Given the description of an element on the screen output the (x, y) to click on. 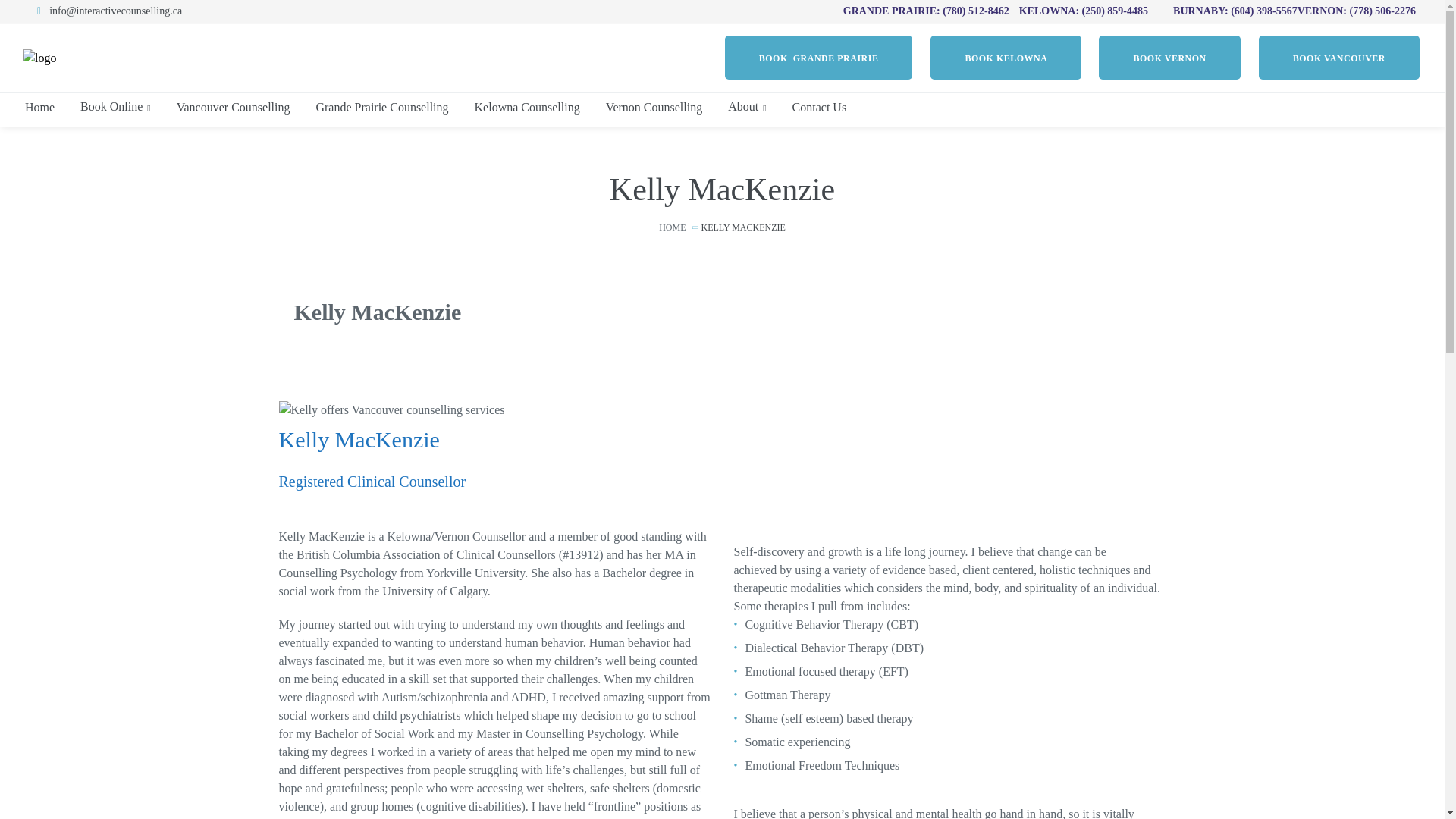
About (746, 106)
BOOK KELOWNA (1005, 57)
Kelowna Counselling (527, 107)
Kelly New 1 (392, 410)
BOOK VERNON (1169, 57)
BOOK  GRANDE PRAIRIE (818, 57)
BOOK VANCOUVER (1339, 57)
Grande Prairie Counselling (381, 107)
Vancouver Counselling (233, 107)
Home (40, 107)
